Given the description of an element on the screen output the (x, y) to click on. 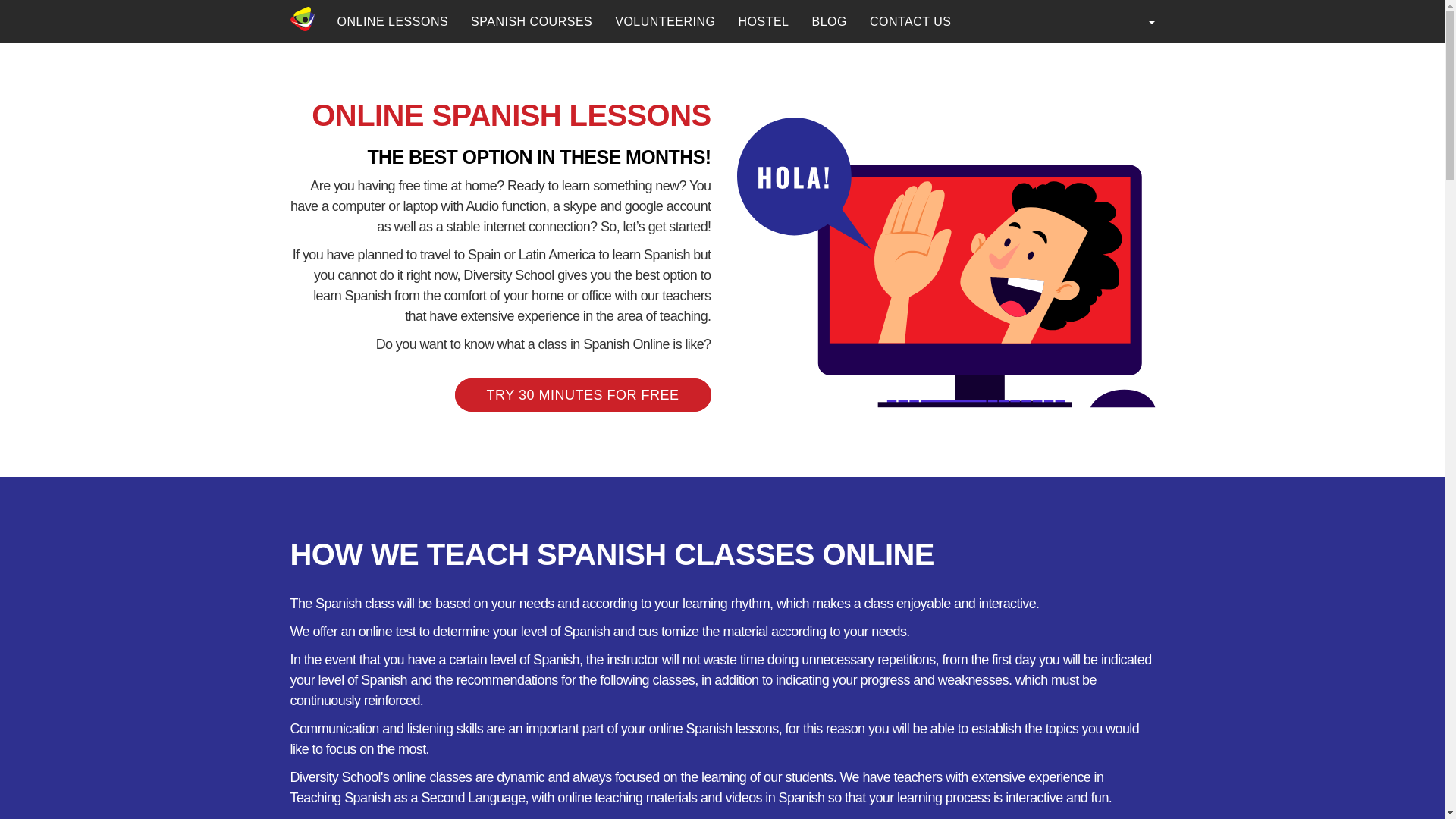
CONTACT US (910, 21)
ONLINE LESSONS (393, 21)
SPANISH COURSES (532, 21)
BLOG (829, 21)
VOLUNTEERING (665, 21)
HOSTEL (762, 21)
TRY 30 MINUTES FOR FREE (582, 394)
